Given the description of an element on the screen output the (x, y) to click on. 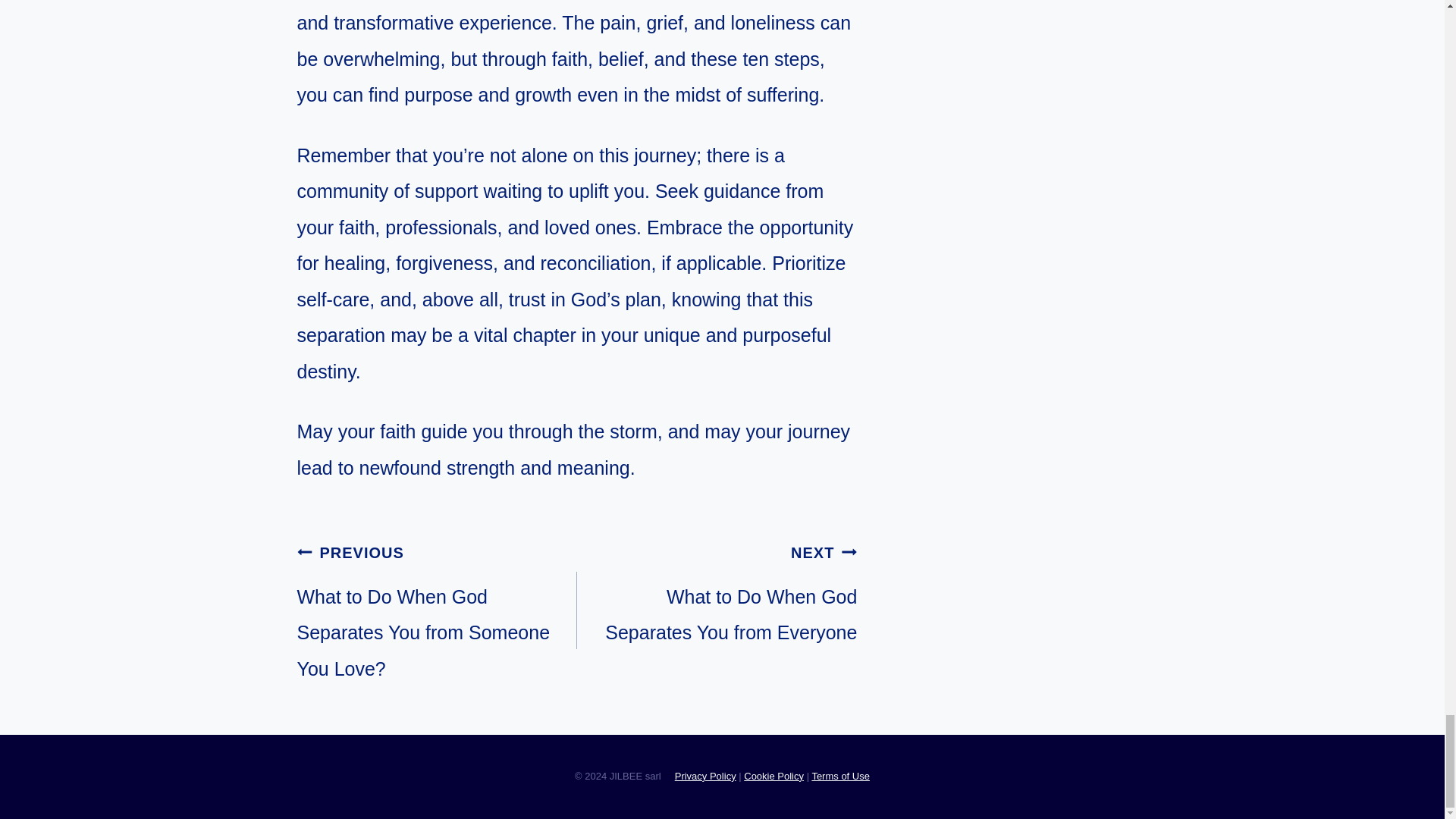
Privacy Policy (716, 592)
Terms of Use (705, 776)
Cookie Policy (839, 776)
